Given the description of an element on the screen output the (x, y) to click on. 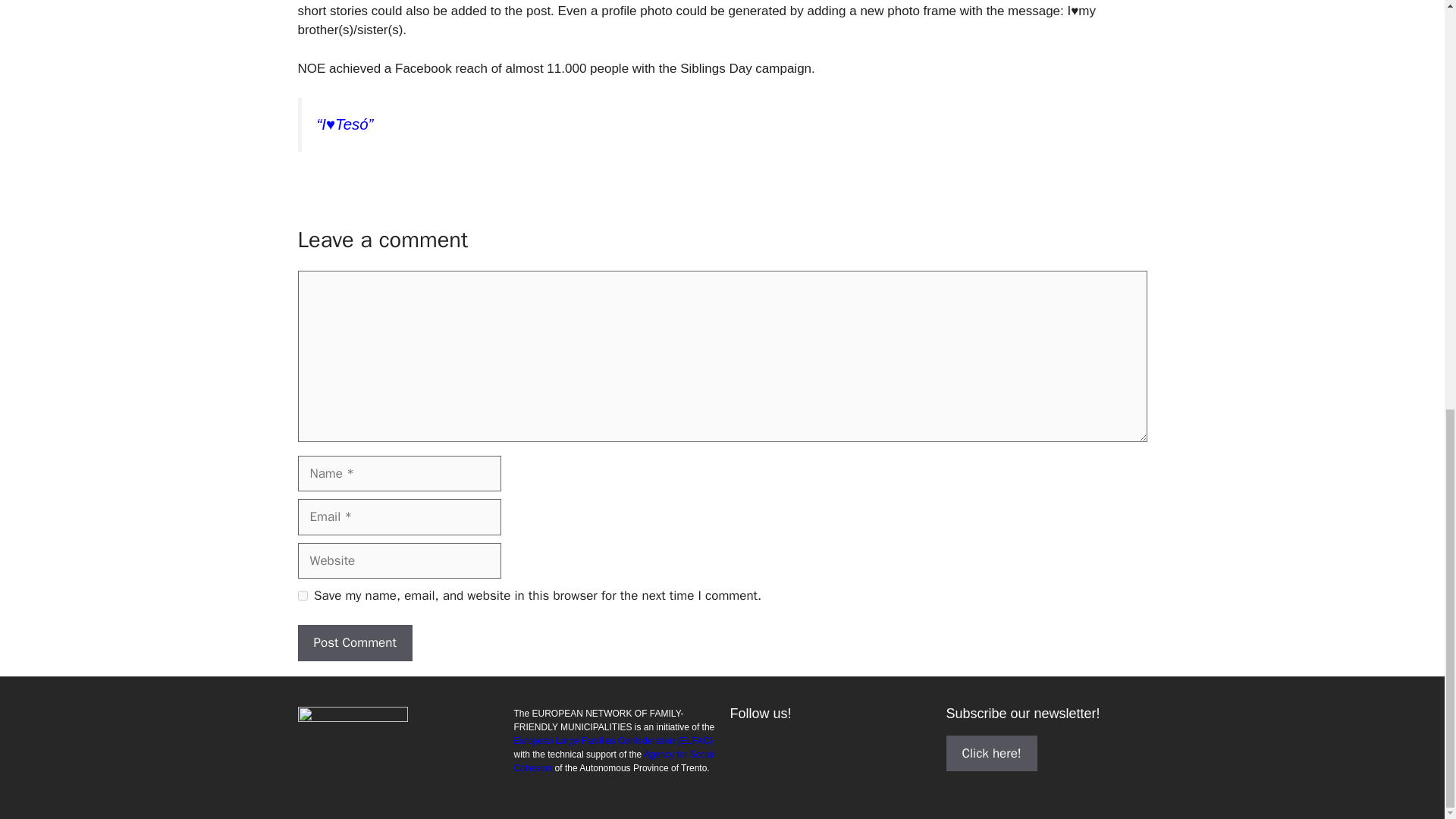
yes (302, 595)
Click here! (991, 752)
Post Comment (354, 642)
Agency for Social Cohesion (613, 760)
Post Comment (354, 642)
